Given the description of an element on the screen output the (x, y) to click on. 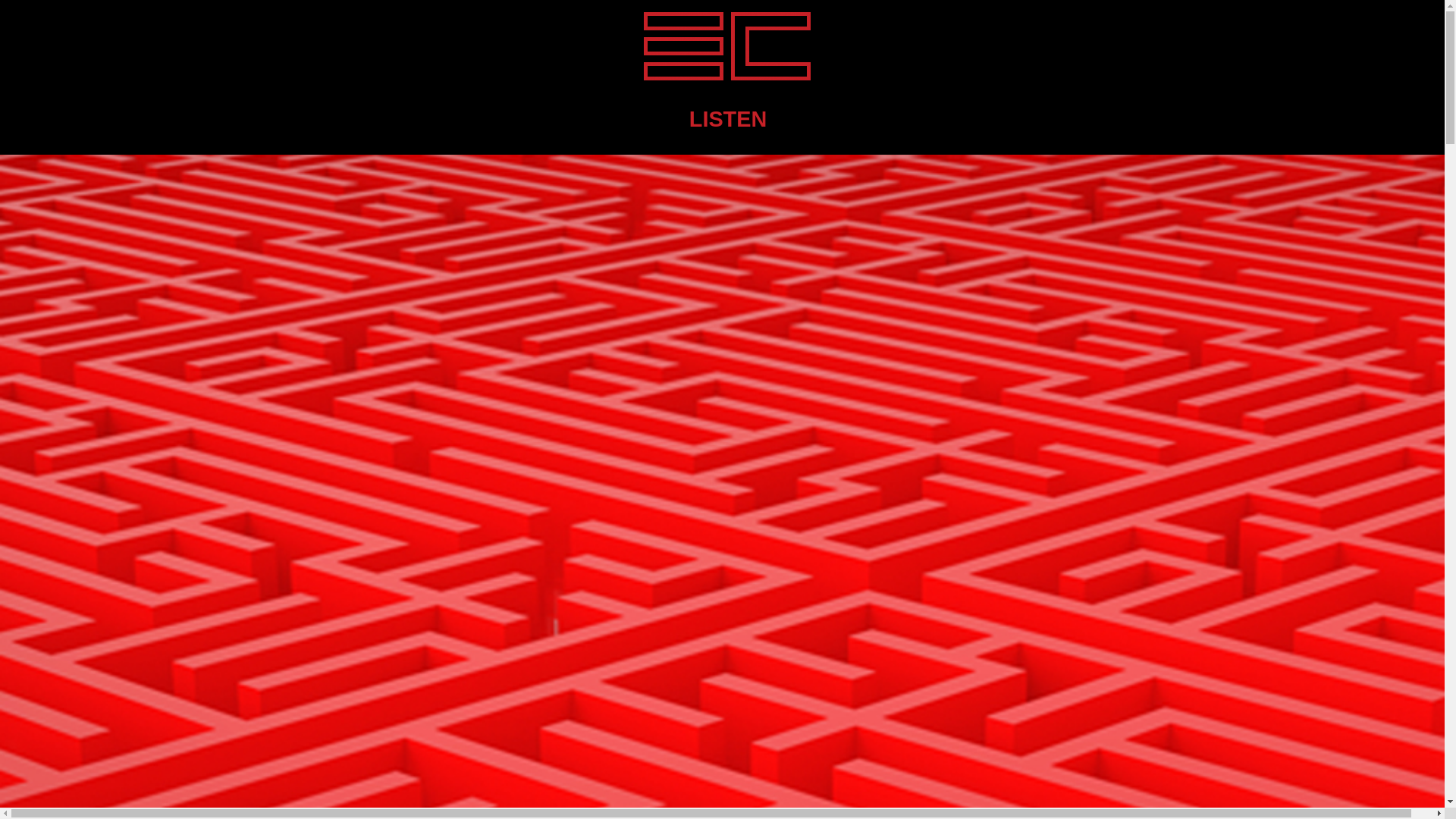
LISTEN Element type: text (727, 118)
